Given the description of an element on the screen output the (x, y) to click on. 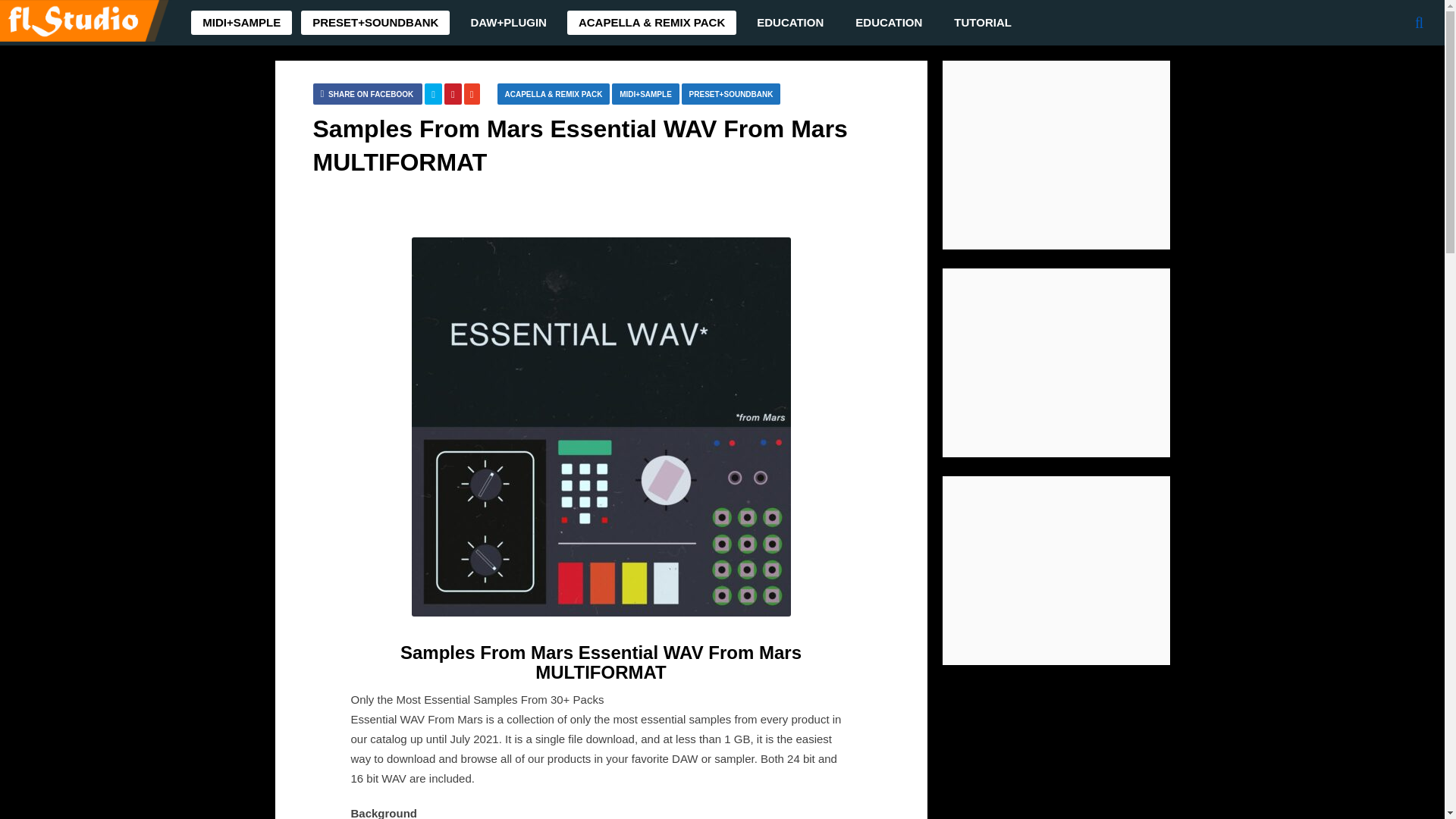
EDUCATION (789, 22)
Advertisement (1055, 155)
Search (1410, 60)
EDUCATION (888, 22)
SHARE ON FACEBOOK (367, 93)
Advertisement (1055, 362)
Advertisement (1055, 570)
TUTORIAL (982, 22)
